Given the description of an element on the screen output the (x, y) to click on. 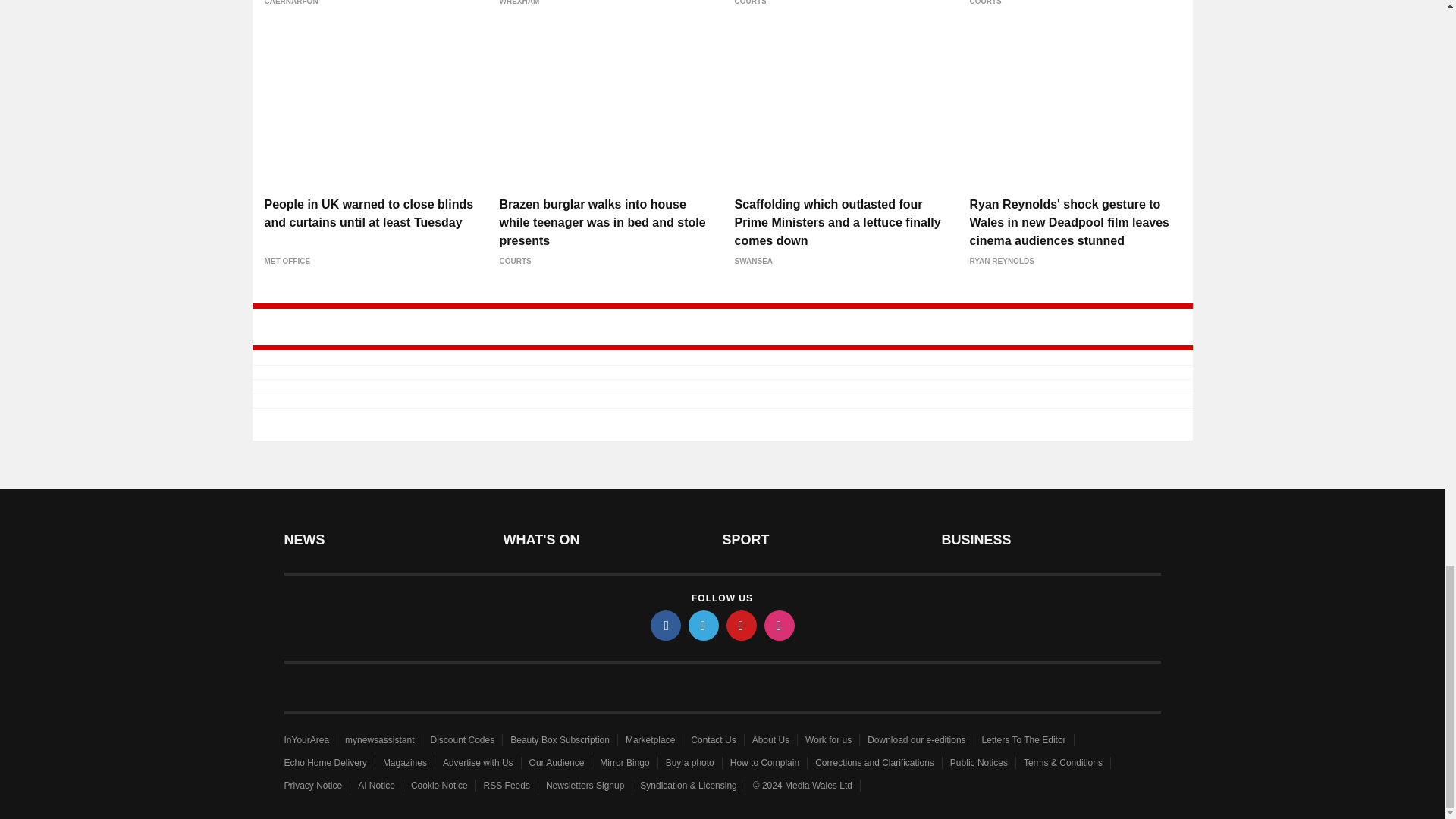
twitter (703, 625)
facebook (665, 625)
pinterest (741, 625)
instagram (779, 625)
